Given the description of an element on the screen output the (x, y) to click on. 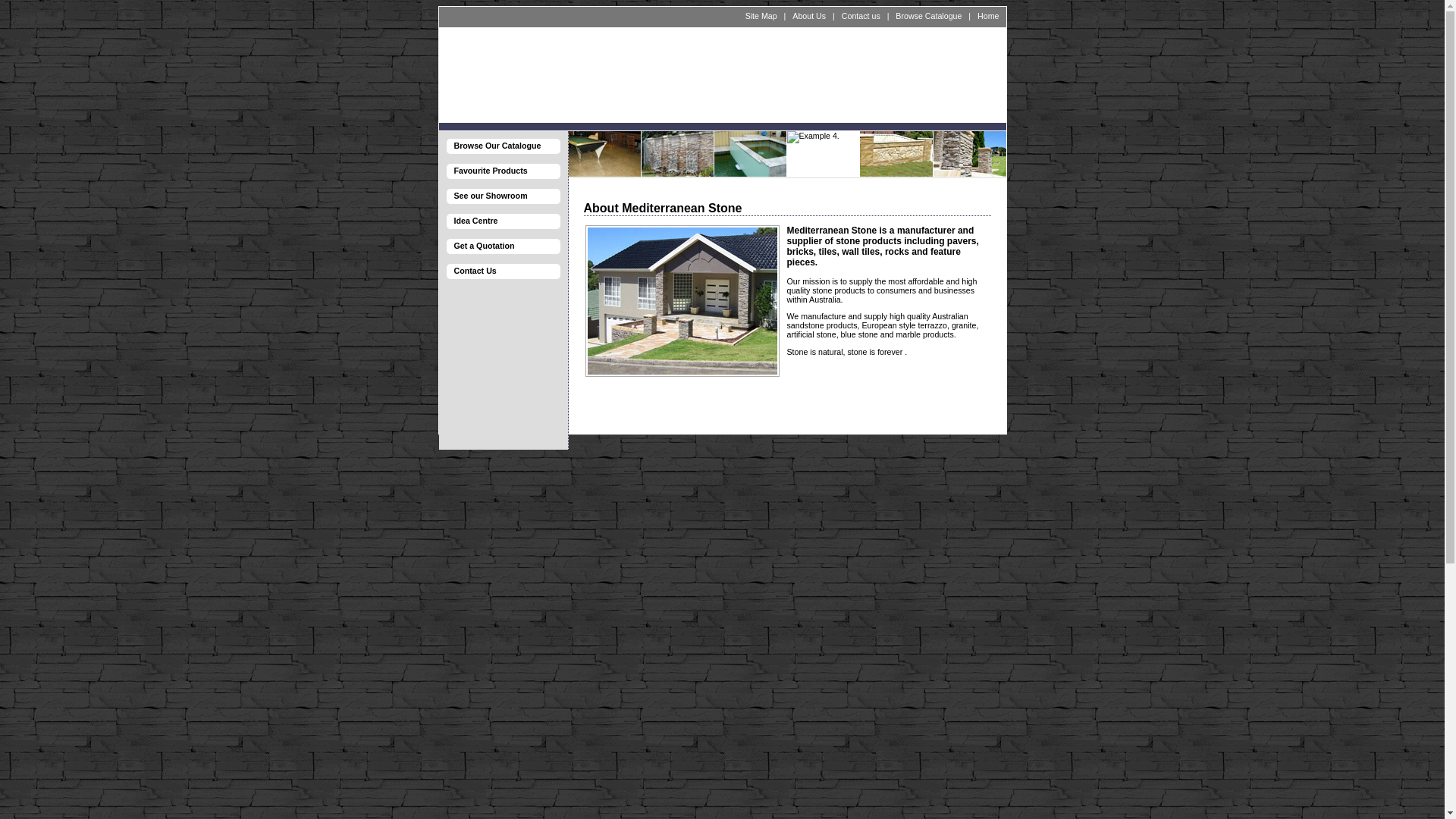
Home (988, 15)
Browse Catalogue (928, 15)
Idea Centre (502, 221)
Site Map (760, 15)
Favourite Products (502, 171)
Contact Us (502, 272)
See our Showroom (502, 197)
Browse Our Catalogue (502, 147)
Contact us (861, 15)
About Us (809, 15)
Get a Quotation (502, 247)
